Given the description of an element on the screen output the (x, y) to click on. 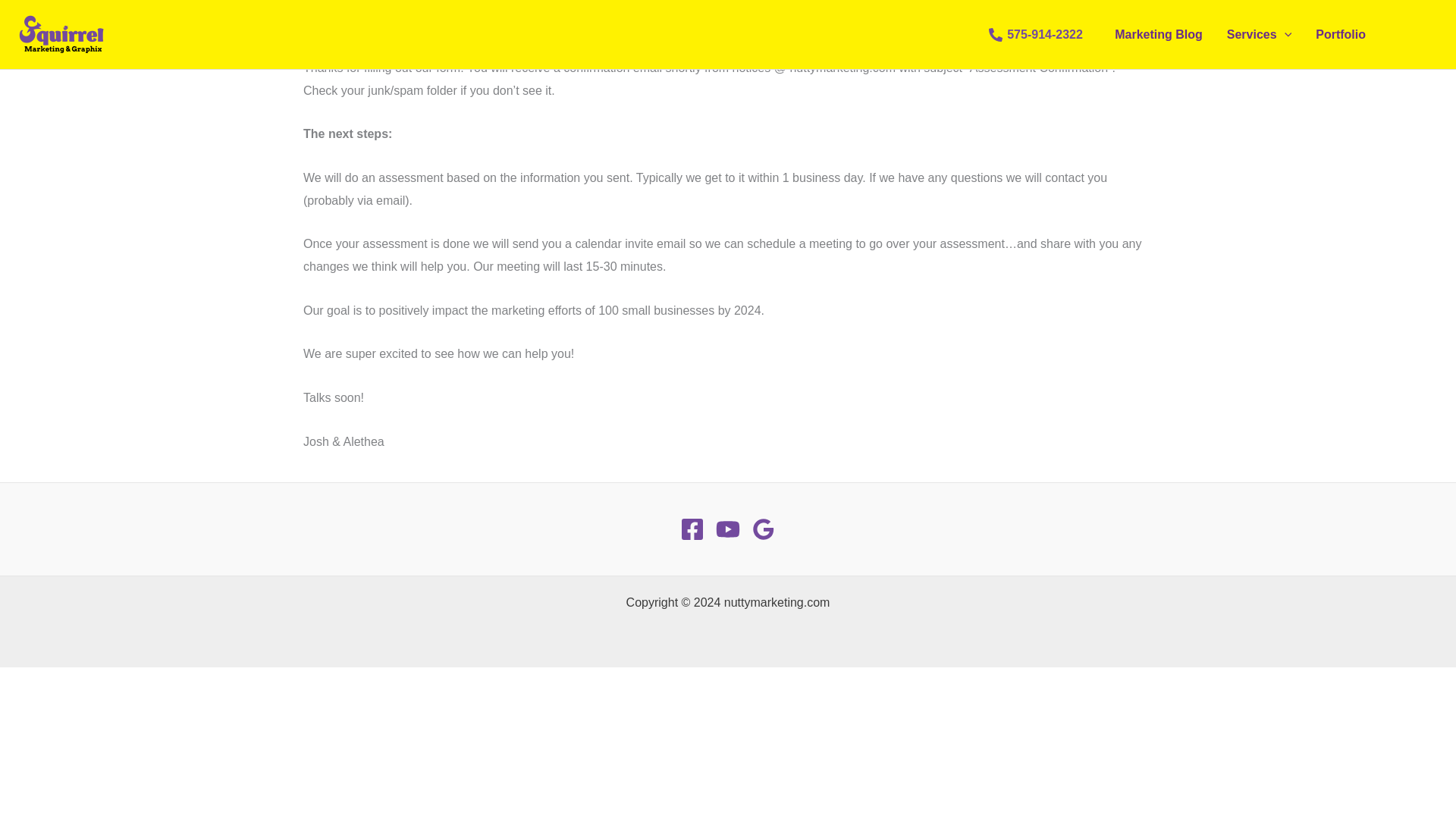
Portfolio (1340, 34)
Services (1258, 34)
Marketing Blog (1158, 34)
575-914-2322 (1035, 34)
